Given the description of an element on the screen output the (x, y) to click on. 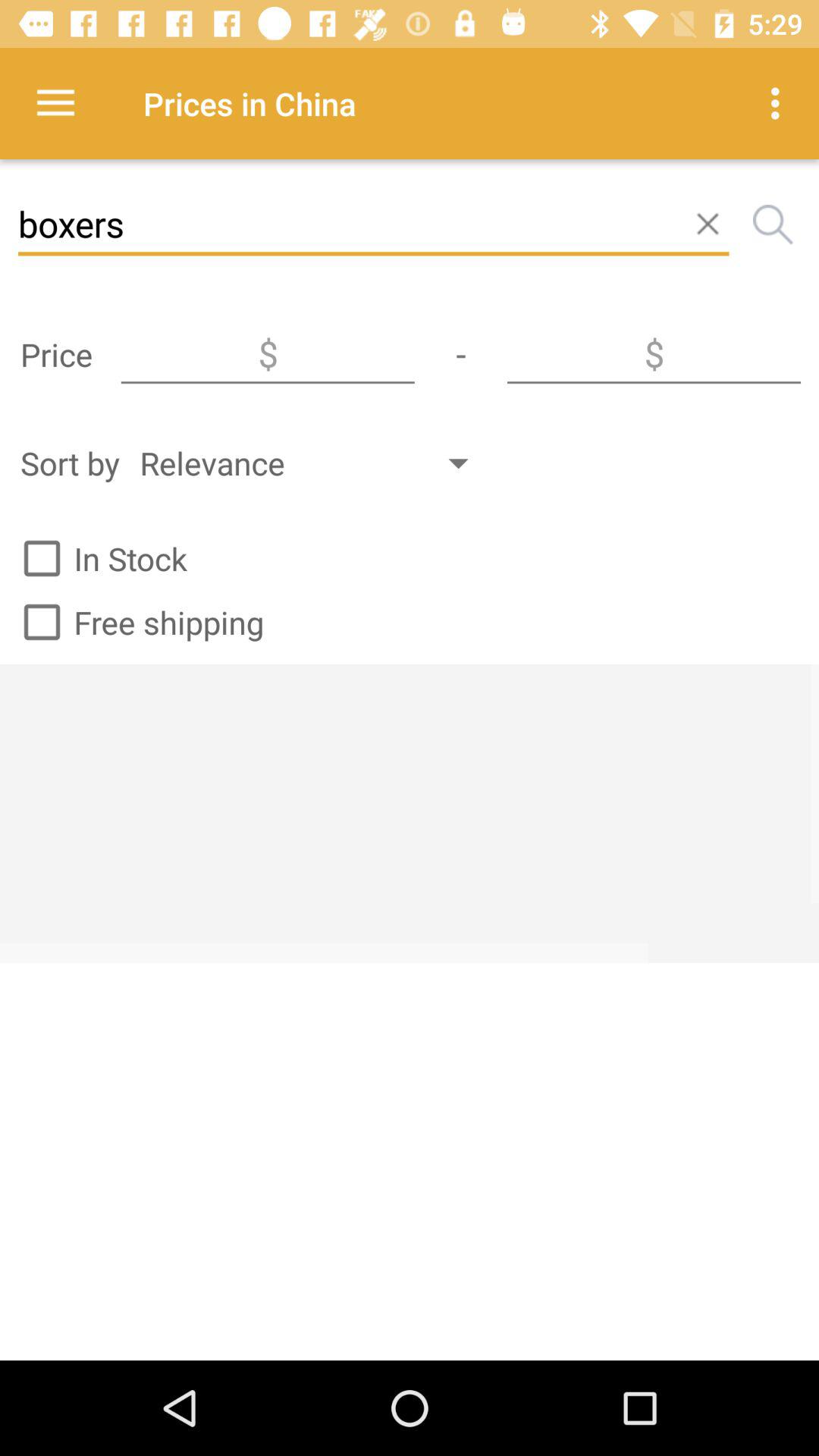
activate price textbox (653, 354)
